Given the description of an element on the screen output the (x, y) to click on. 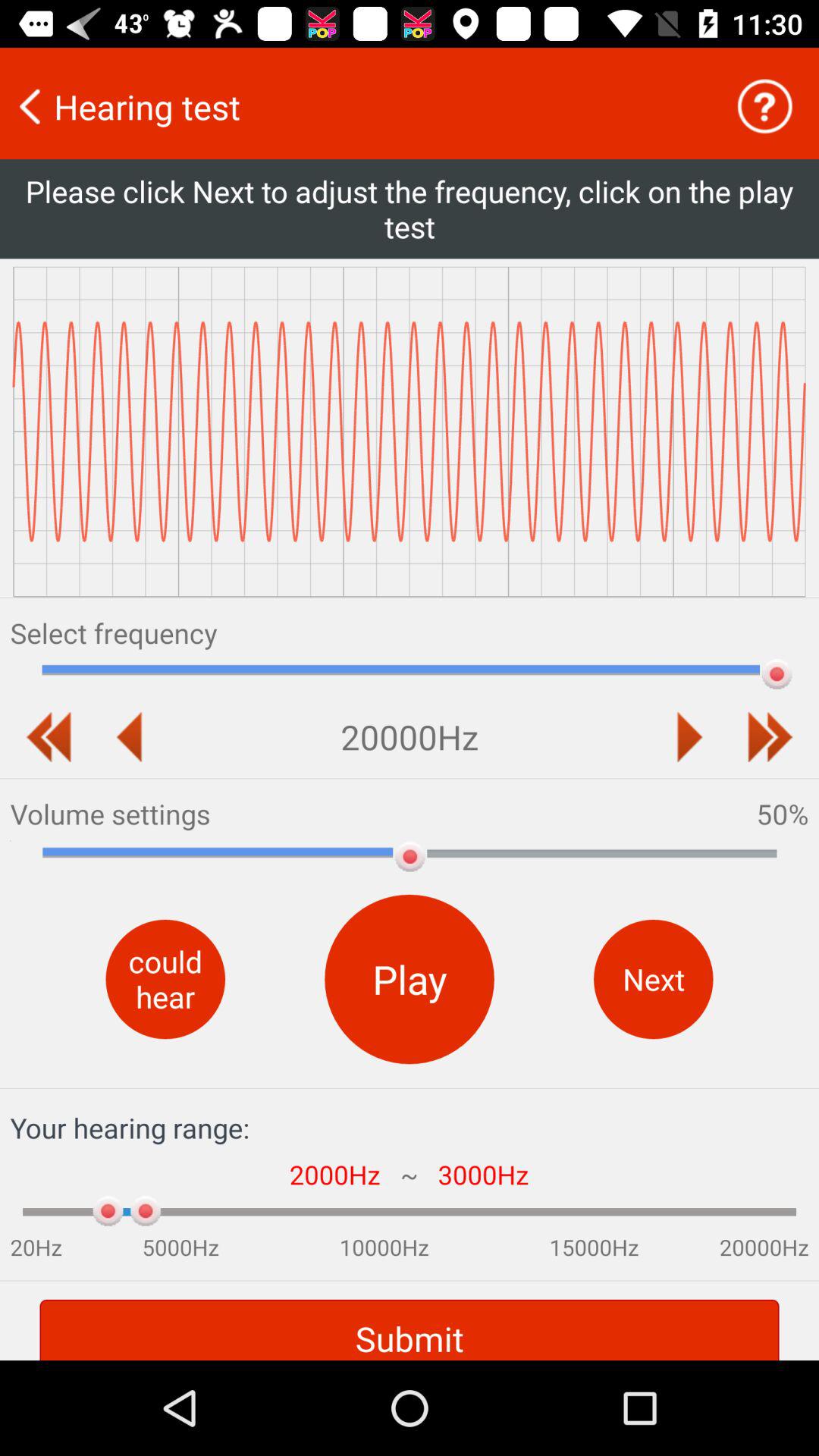
go to help (764, 106)
